Given the description of an element on the screen output the (x, y) to click on. 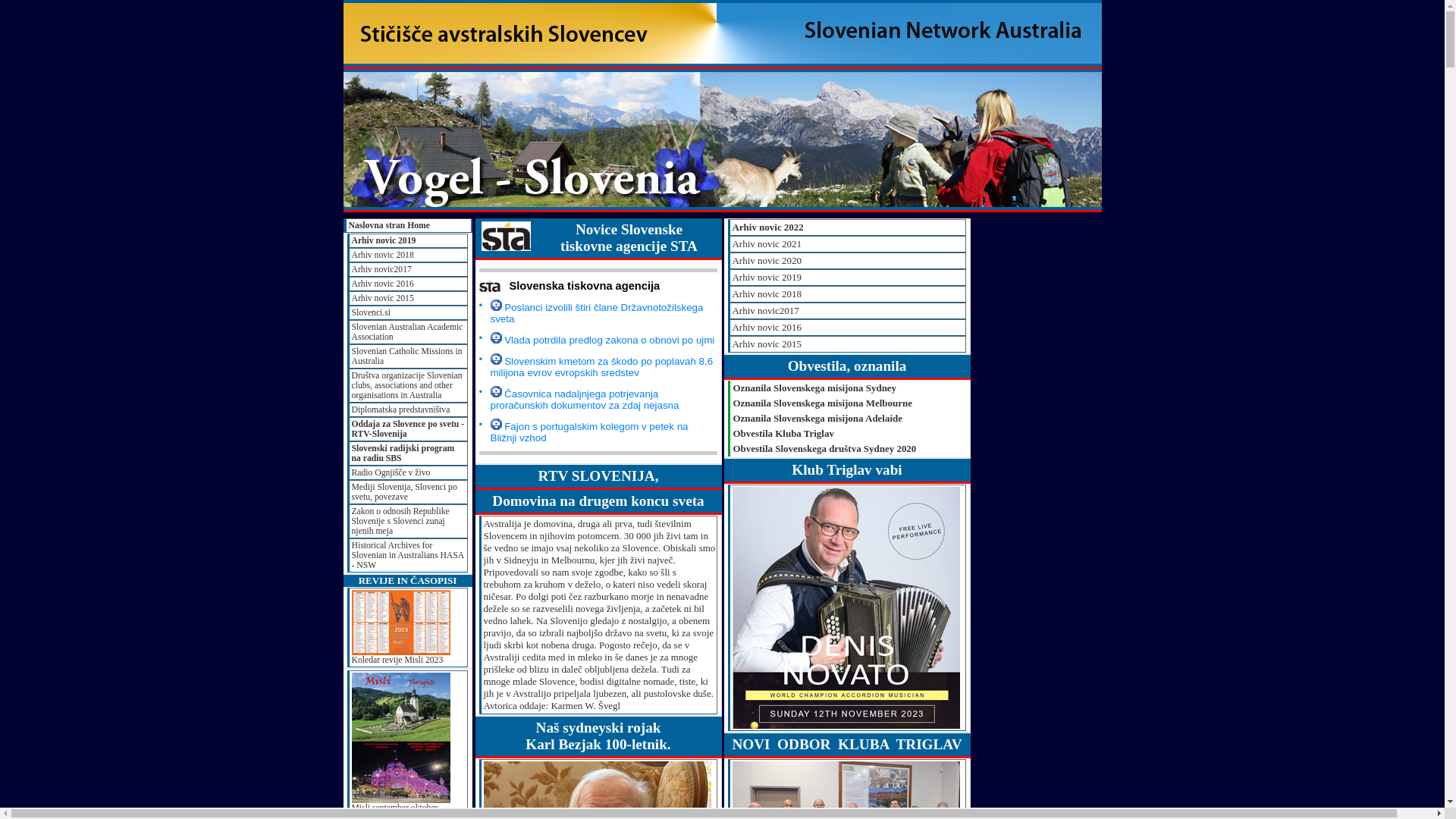
Slovenska tiskovna agencija Element type: text (598, 285)
Arhiv novic 2016 Element type: text (847, 327)
Arhiv novic 2019 Element type: text (847, 277)
Arhiv novic 2018 Element type: text (847, 293)
Historical Archives for Slovenian in Australians HASA - NSW Element type: text (407, 555)
Arhiv novic 2015 Element type: text (847, 343)
Arhiv novic 2021 Element type: text (847, 243)
Arhiv novic 2020 Element type: text (847, 260)
Arhiv novic 2022 Element type: text (847, 227)
Arhiv novic 2019 Element type: text (407, 240)
Koledar revije Misli 2023 Element type: text (407, 627)
Arhiv novic 2018 Element type: text (407, 254)
Oznanila Slovenskega misijona Adelaide Element type: text (847, 418)
Oznanila Slovenskega misijona Sydney Element type: text (847, 387)
Arhiv novic 2015 Element type: text (407, 298)
Oddaja za Slovence po svetu - RTV-Slovenija Element type: text (407, 429)
Slovenian Australian Academic Association Element type: text (407, 332)
Slovenian Catholic Missions in Australia Element type: text (407, 356)
Arhiv novic2017 Element type: text (847, 310)
Obvestila Kluba Triglav Element type: text (847, 433)
Arhiv novic2017 Element type: text (407, 269)
Misli september oktober Element type: text (407, 742)
Naslovna stran Home Element type: text (407, 225)
Oznanila Slovenskega misijona Melbourne Element type: text (847, 403)
Arhiv novic 2016 Element type: text (407, 283)
Slovenski radijski program na radiu SBS Element type: text (407, 453)
Mediji Slovenija, Slovenci po svetu, povezave Element type: text (407, 492)
Slovenci.si Element type: text (407, 312)
